Given the description of an element on the screen output the (x, y) to click on. 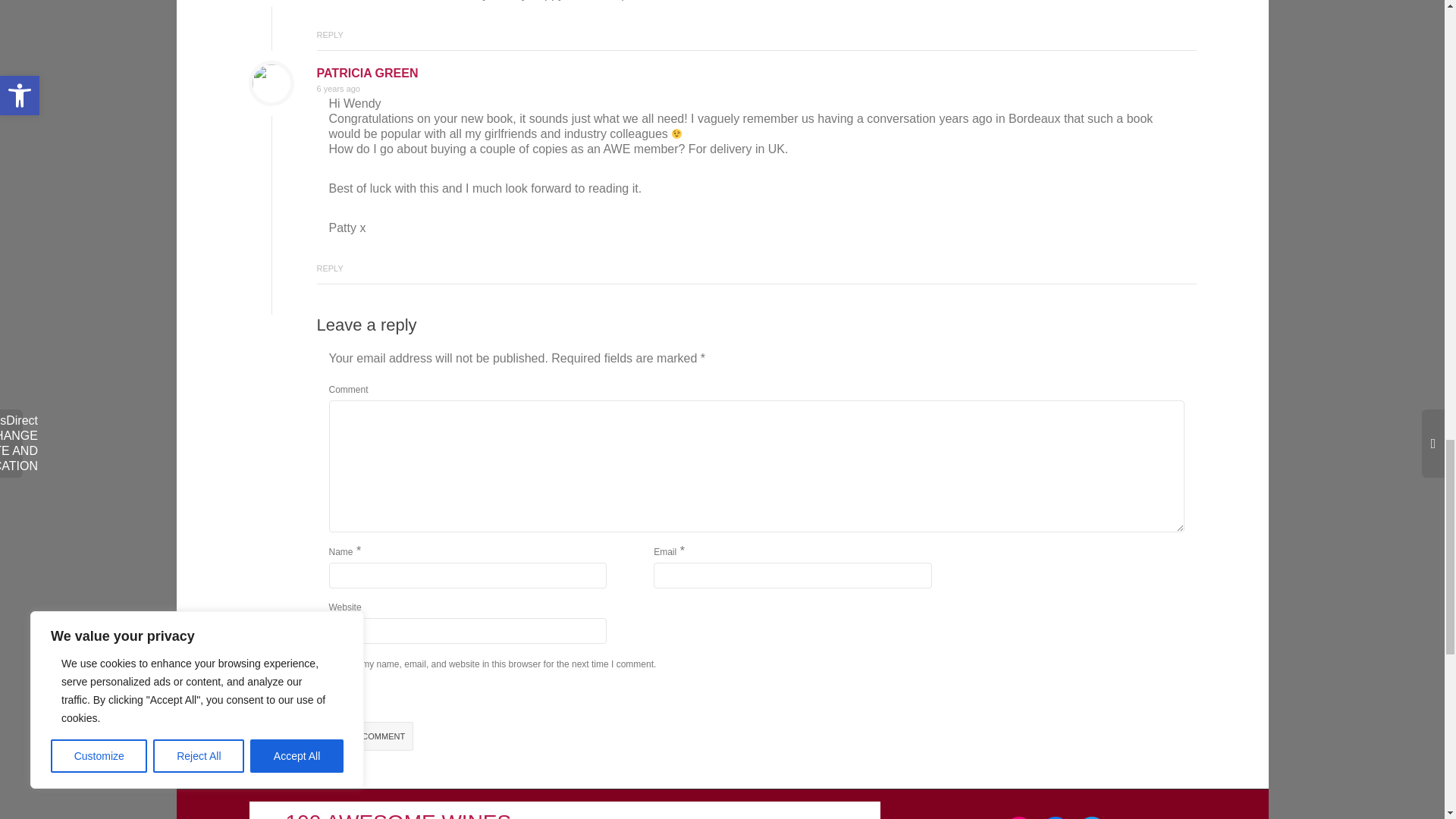
Post comment (371, 736)
yes (334, 662)
